Given the description of an element on the screen output the (x, y) to click on. 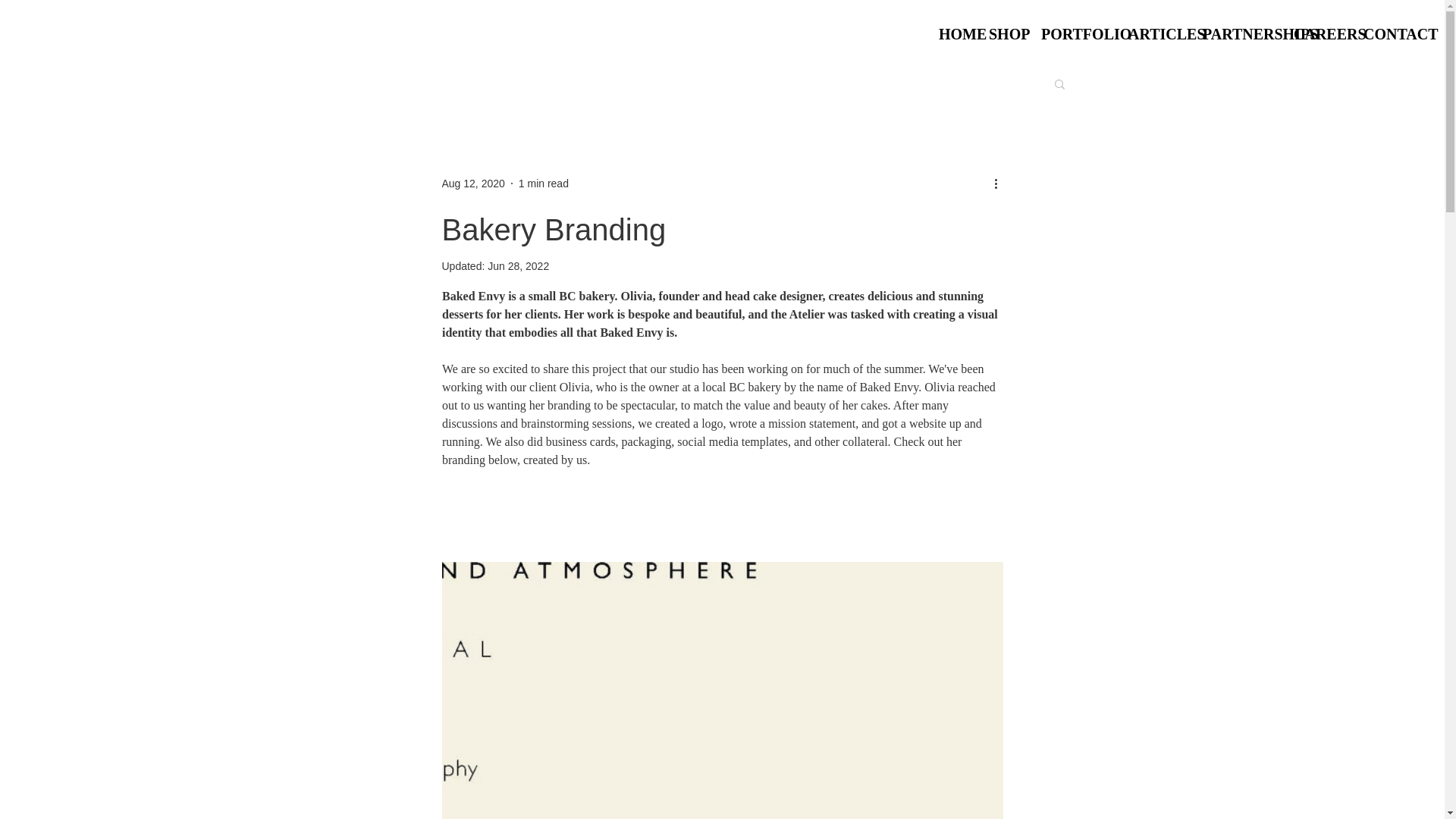
ARTICLES (1153, 34)
CAREERS (1317, 34)
PORTFOLIO (1072, 34)
1 min read (543, 183)
Jun 28, 2022 (517, 265)
CONTACT (1390, 34)
Aug 12, 2020 (472, 183)
SHOP (1002, 34)
PARTNERSHIPS (1236, 34)
HOME (951, 34)
